Given the description of an element on the screen output the (x, y) to click on. 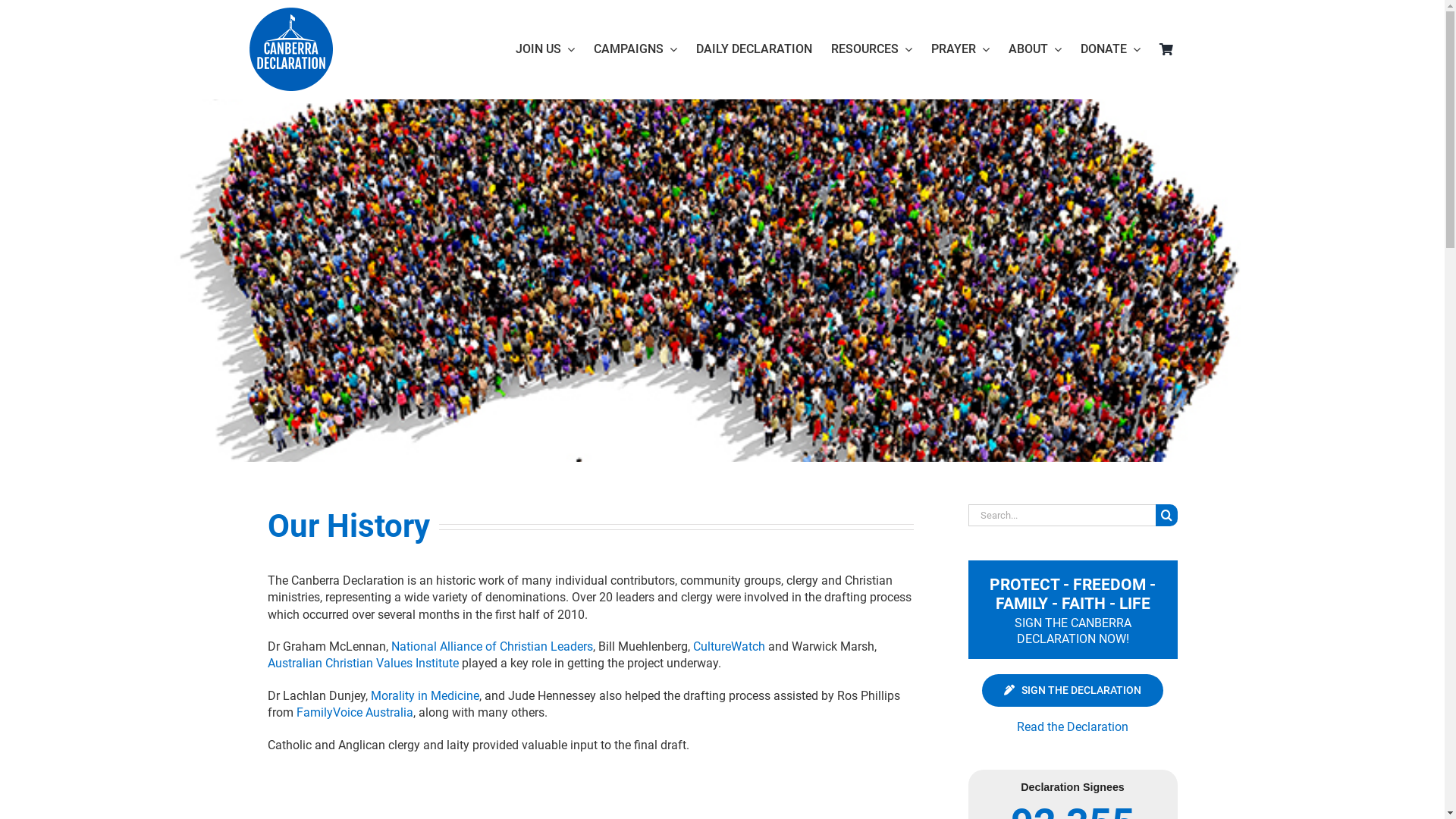
CAMPAIGNS Element type: text (634, 49)
National Alliance of Christian Leaders Element type: text (492, 646)
Morality in Medicine Element type: text (424, 695)
JOIN US Element type: text (544, 49)
PRAYER Element type: text (960, 49)
CultureWatch Element type: text (729, 646)
RESOURCES Element type: text (871, 49)
DONATE Element type: text (1109, 49)
FamilyVoice Australia Element type: text (353, 712)
Read the Declaration Element type: text (1072, 726)
Australian Christian Values Institute Element type: text (362, 662)
SIGN THE DECLARATION Element type: text (1073, 689)
ABOUT Element type: text (1034, 49)
DAILY DECLARATION Element type: text (754, 49)
